Given the description of an element on the screen output the (x, y) to click on. 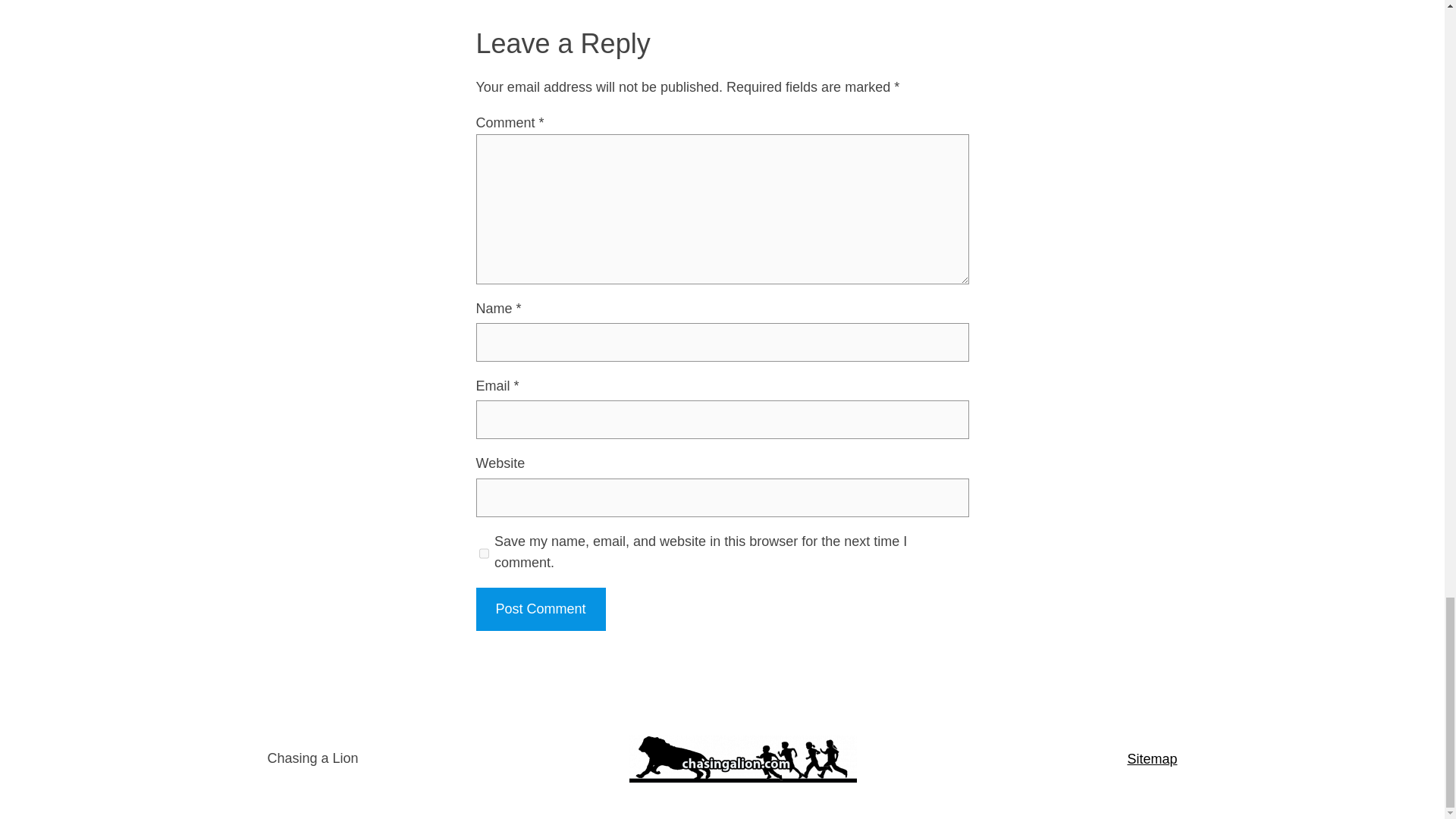
Chasing a Lion (312, 758)
Post Comment (540, 609)
Post Comment (540, 609)
Sitemap (1151, 758)
